Given the description of an element on the screen output the (x, y) to click on. 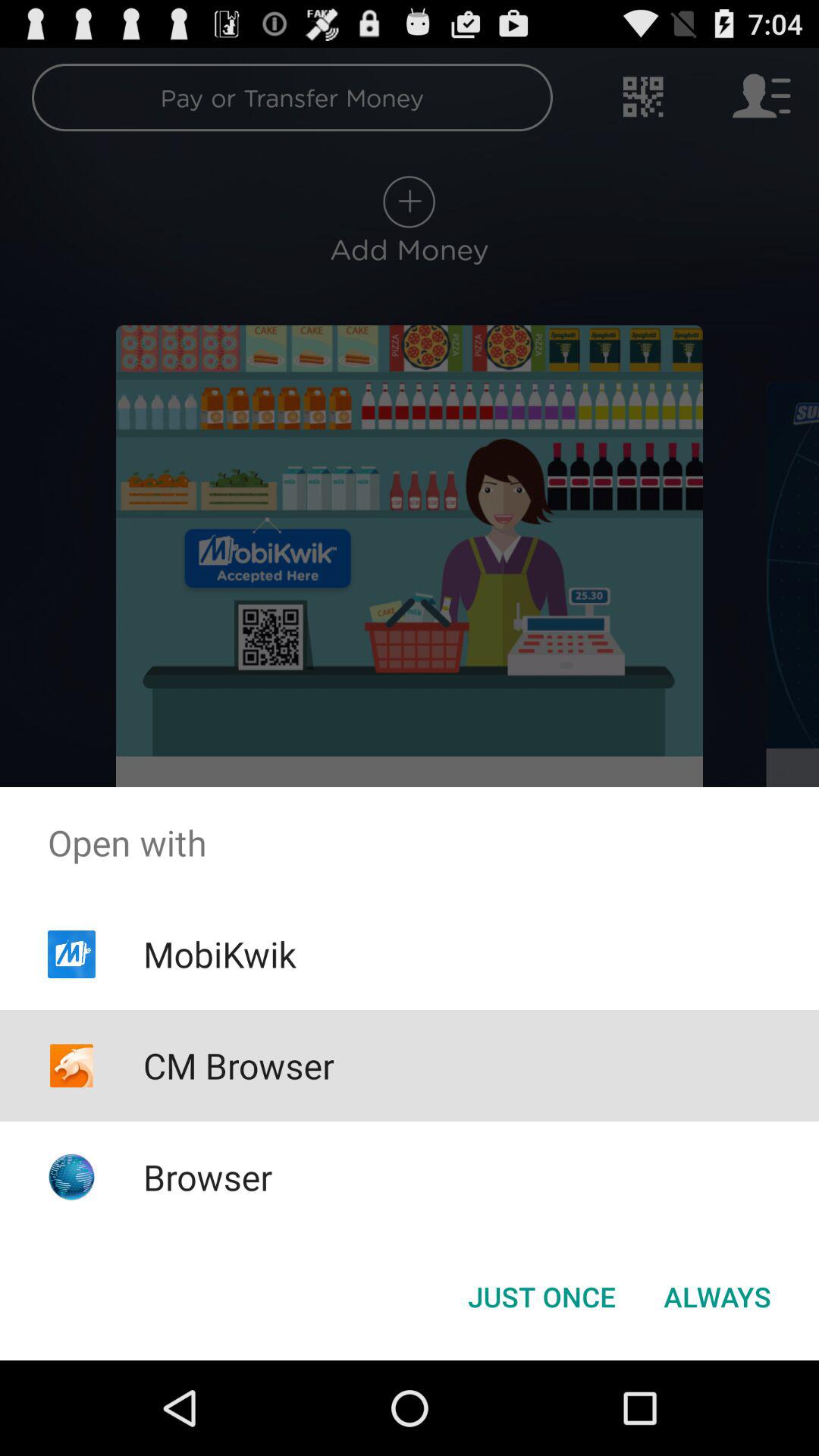
flip until always item (717, 1296)
